Given the description of an element on the screen output the (x, y) to click on. 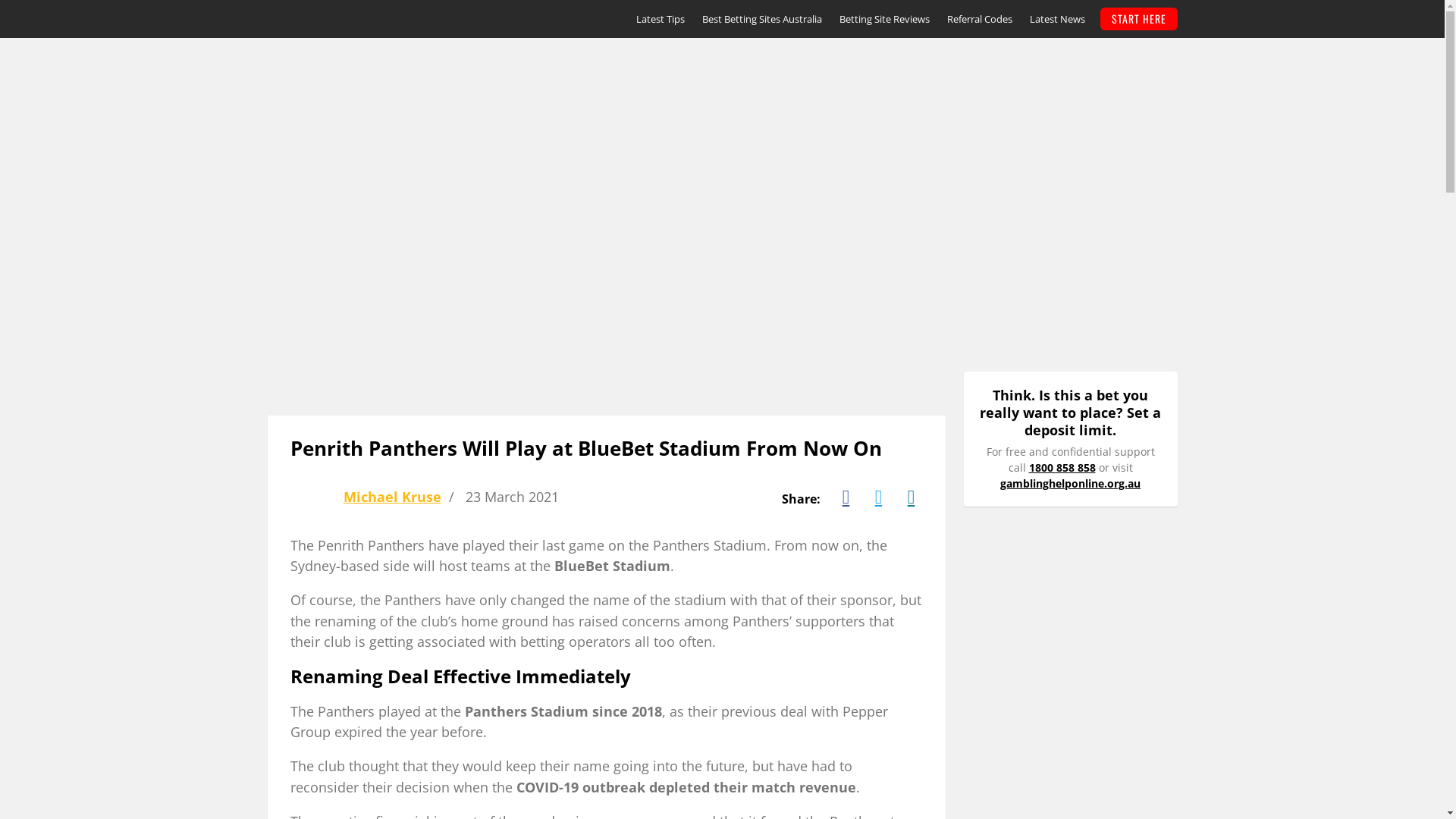
Penrith Panthers Will Play at BlueBet Stadium From Now On Element type: text (585, 448)
gamblinghelponline.org.au Element type: text (1070, 483)
Betting Site Reviews Element type: text (883, 18)
1800 858 858 Element type: text (1061, 467)
Michael Kruse Element type: text (391, 495)
Referral Codes Element type: text (978, 18)
Latest News Element type: text (1057, 18)
Latest Tips Element type: text (659, 18)
START HERE Element type: text (1137, 18)
Best Betting Sites Australia Element type: text (761, 18)
